Given the description of an element on the screen output the (x, y) to click on. 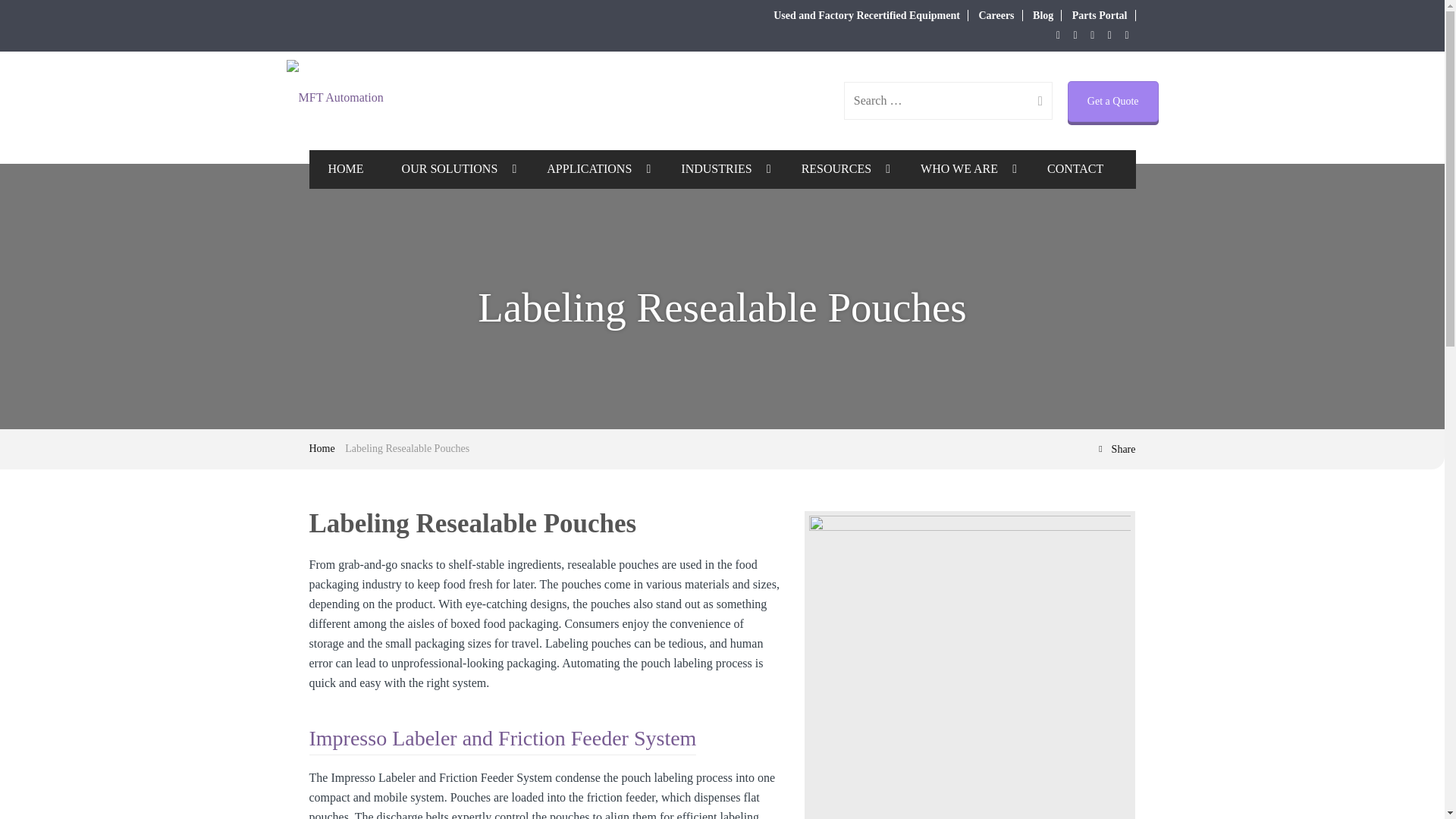
Search (1034, 100)
Search (1034, 100)
Get a Quote (1112, 101)
OUR SOLUTIONS (455, 169)
Search (1034, 100)
Used and Factory Recertified Equipment (866, 15)
Parts Portal (1098, 15)
Blog (1042, 15)
Careers (995, 15)
